Given the description of an element on the screen output the (x, y) to click on. 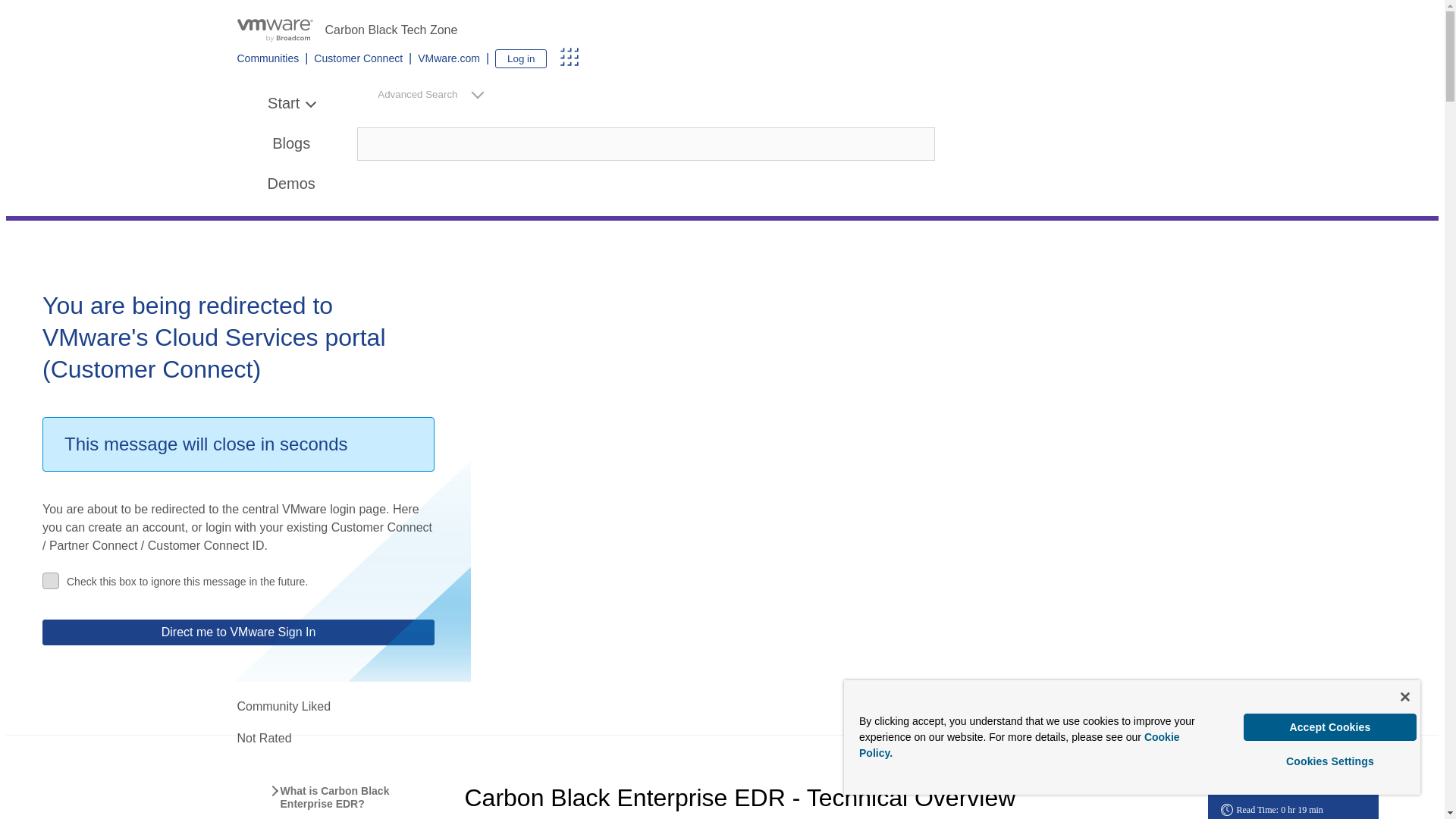
Communities (266, 58)
Carbon Black Tech Zone (721, 30)
Customer Connect (358, 58)
VMware.com (448, 58)
Log in (521, 57)
